Given the description of an element on the screen output the (x, y) to click on. 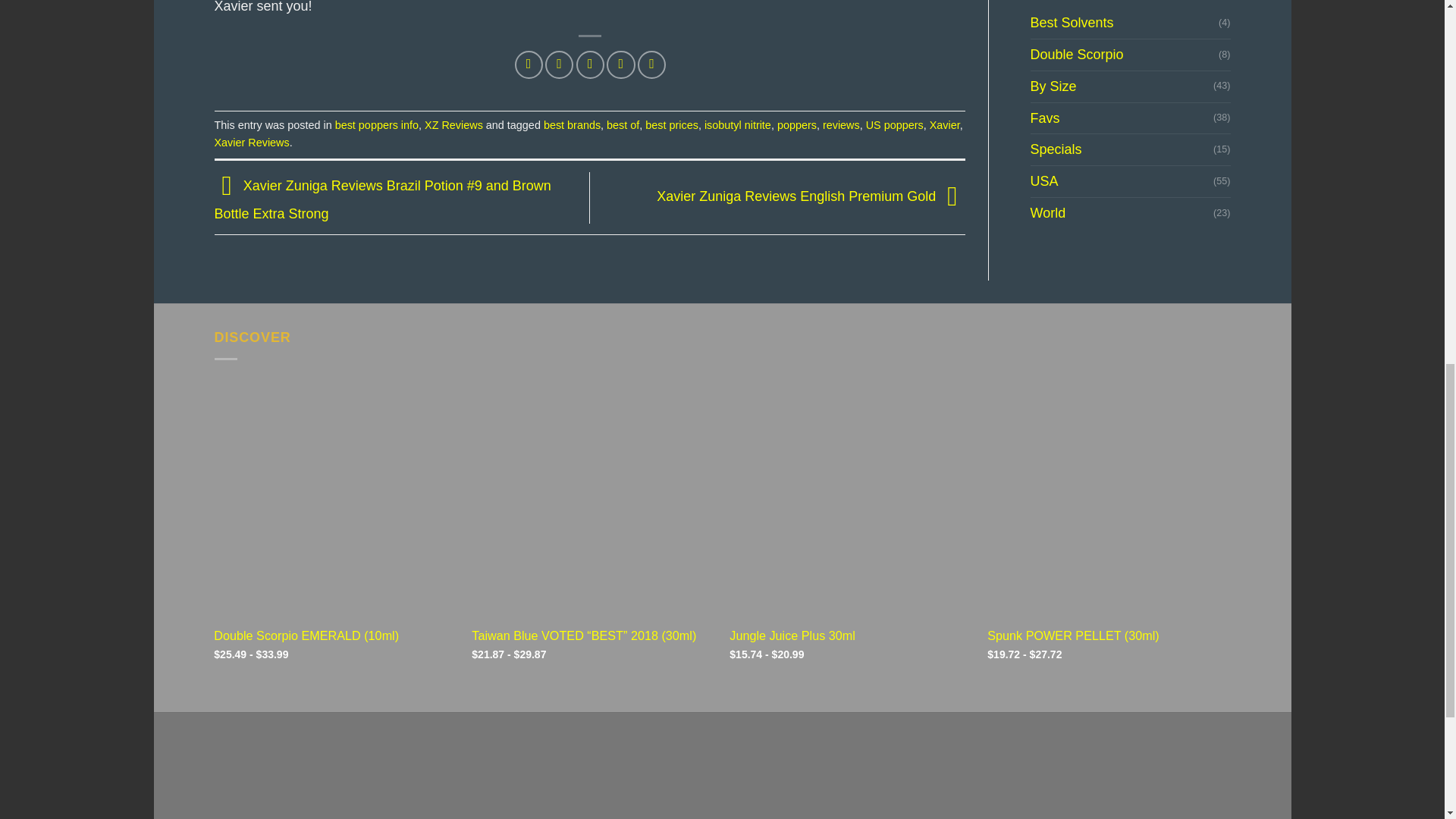
best brands (571, 124)
best of (623, 124)
best prices (671, 124)
XZ Reviews (454, 124)
Share on LinkedIn (651, 64)
best poppers info (376, 124)
isobutyl nitrite (737, 124)
Share on Facebook (529, 64)
Pin on Pinterest (620, 64)
Email to a Friend (590, 64)
